Given the description of an element on the screen output the (x, y) to click on. 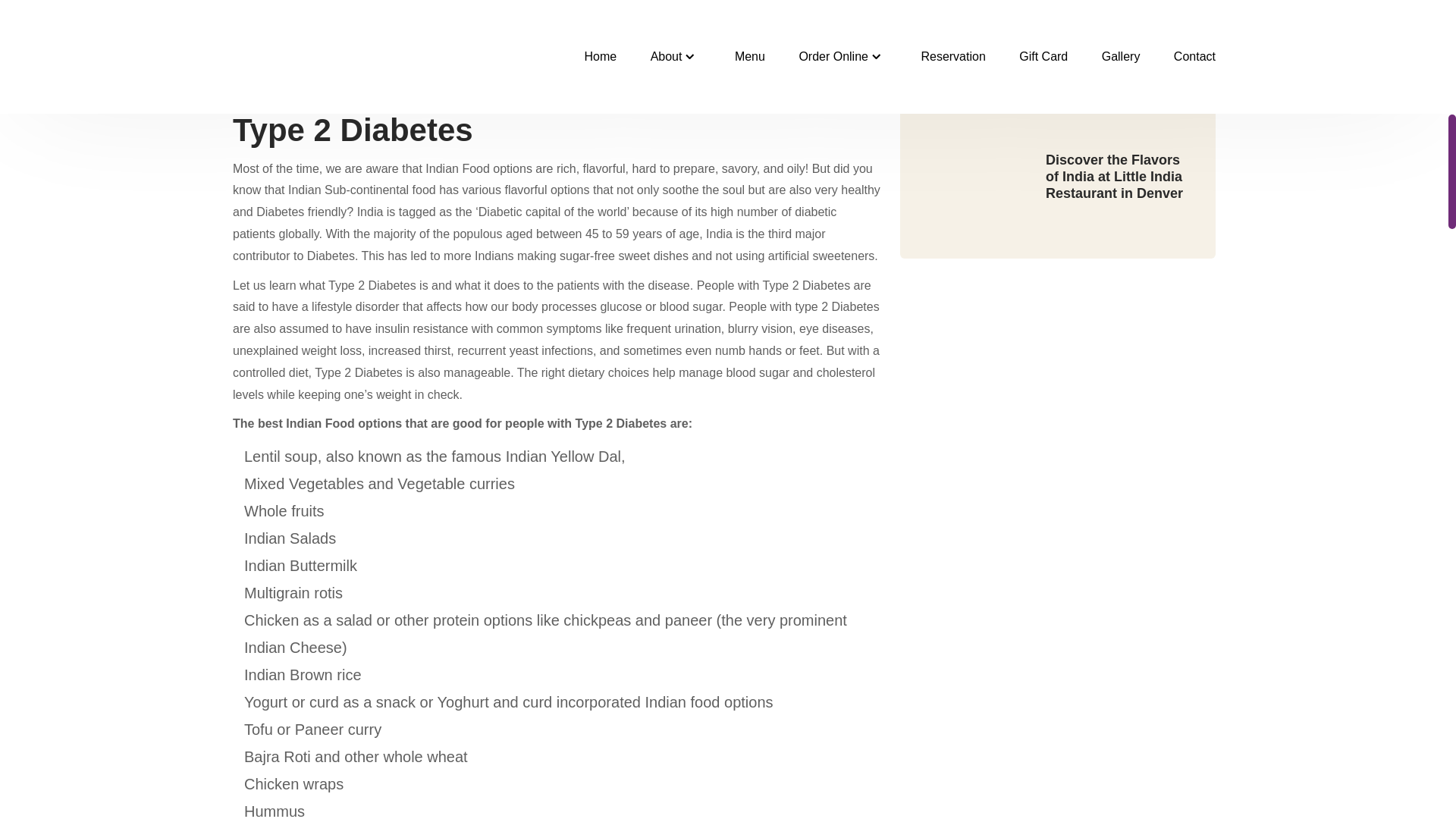
Indian Food (320, 422)
